Given the description of an element on the screen output the (x, y) to click on. 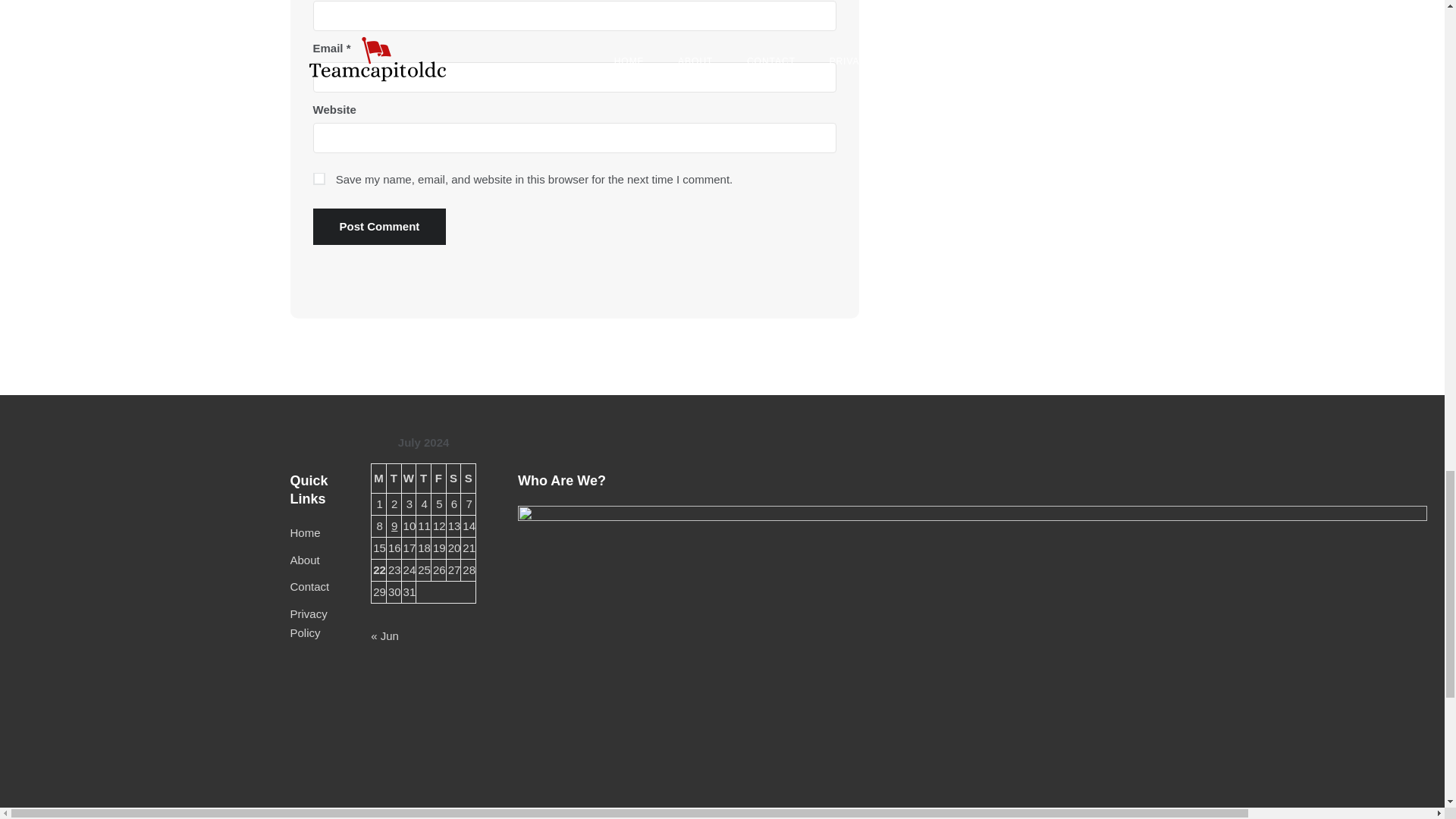
Post Comment (379, 226)
Post Comment (379, 226)
yes (318, 178)
